Given the description of an element on the screen output the (x, y) to click on. 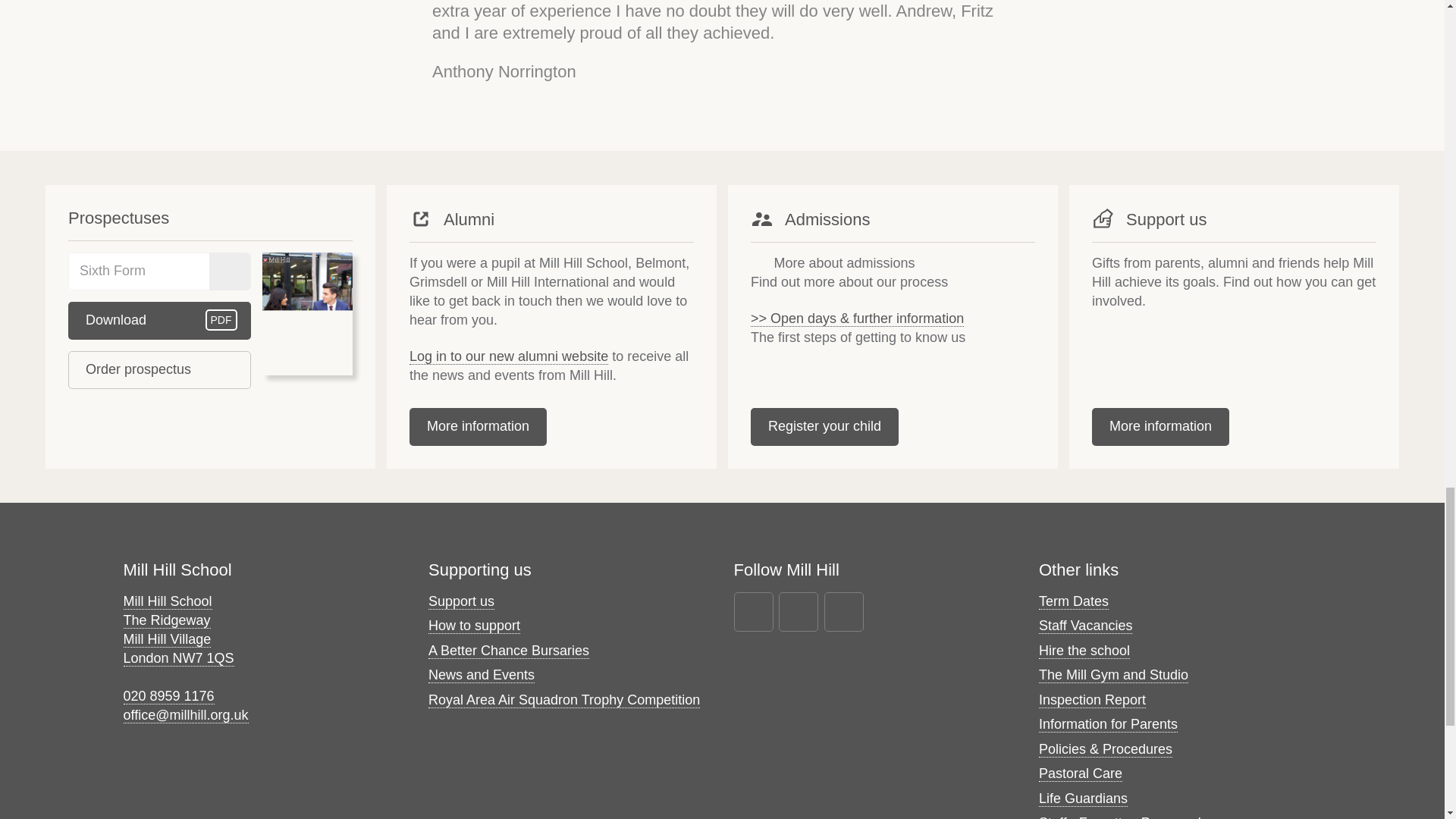
Log in to our new alumni website (159, 320)
Order prospectus (508, 356)
